Given the description of an element on the screen output the (x, y) to click on. 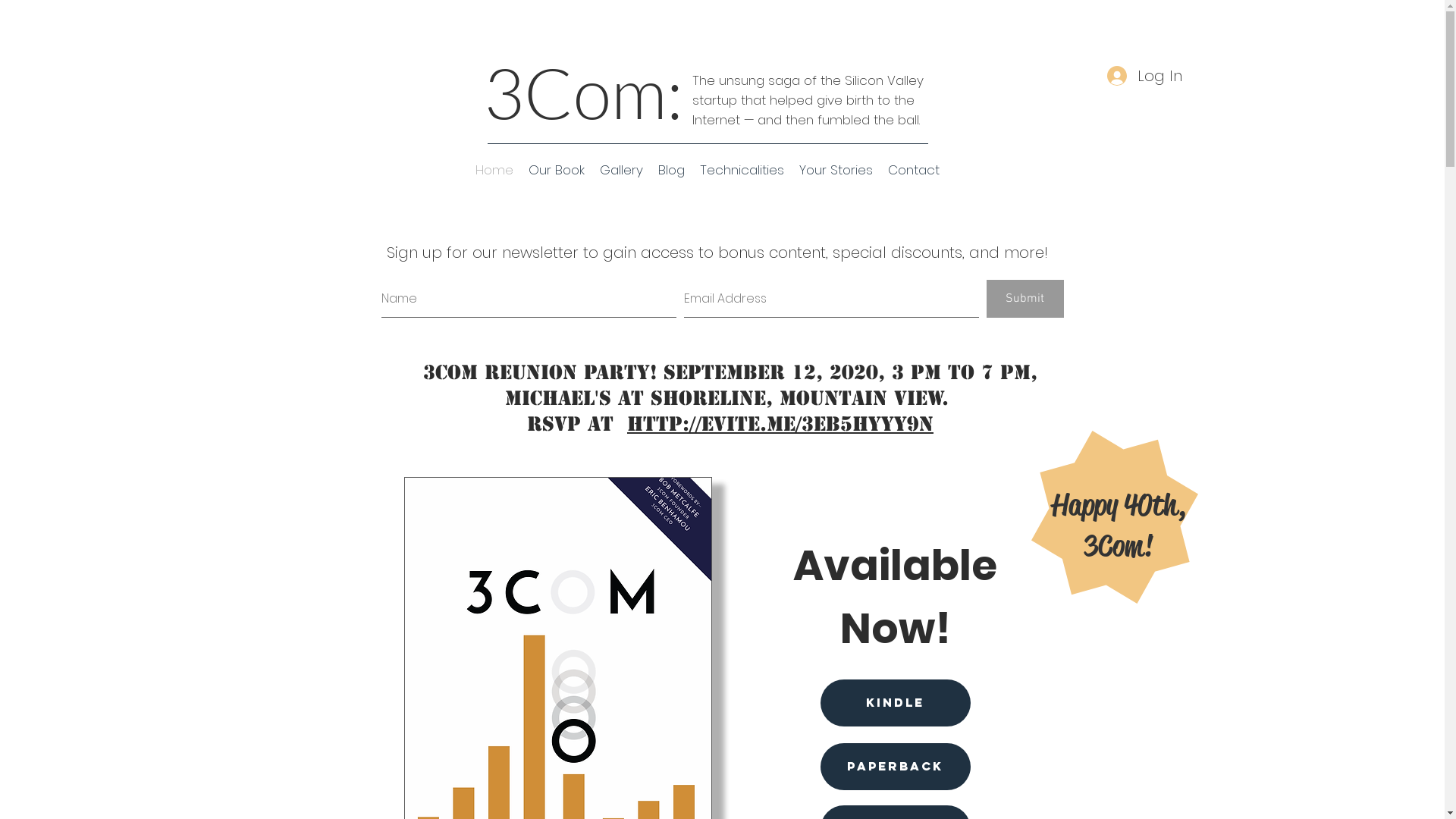
Home Element type: text (493, 169)
Our Book Element type: text (555, 169)
Log In Element type: text (1144, 75)
Kindle Element type: text (895, 702)
Gallery Element type: text (620, 169)
Site Search Element type: hover (1106, 33)
Paperback Element type: text (895, 766)
http://evite.me/3EB5HYYy9N Element type: text (780, 423)
Your Stories Element type: text (835, 169)
Technicalities Element type: text (740, 169)
Contact Element type: text (912, 169)
3Com: Element type: text (583, 92)
Blog Element type: text (671, 169)
Submit Element type: text (1024, 298)
